Given the description of an element on the screen output the (x, y) to click on. 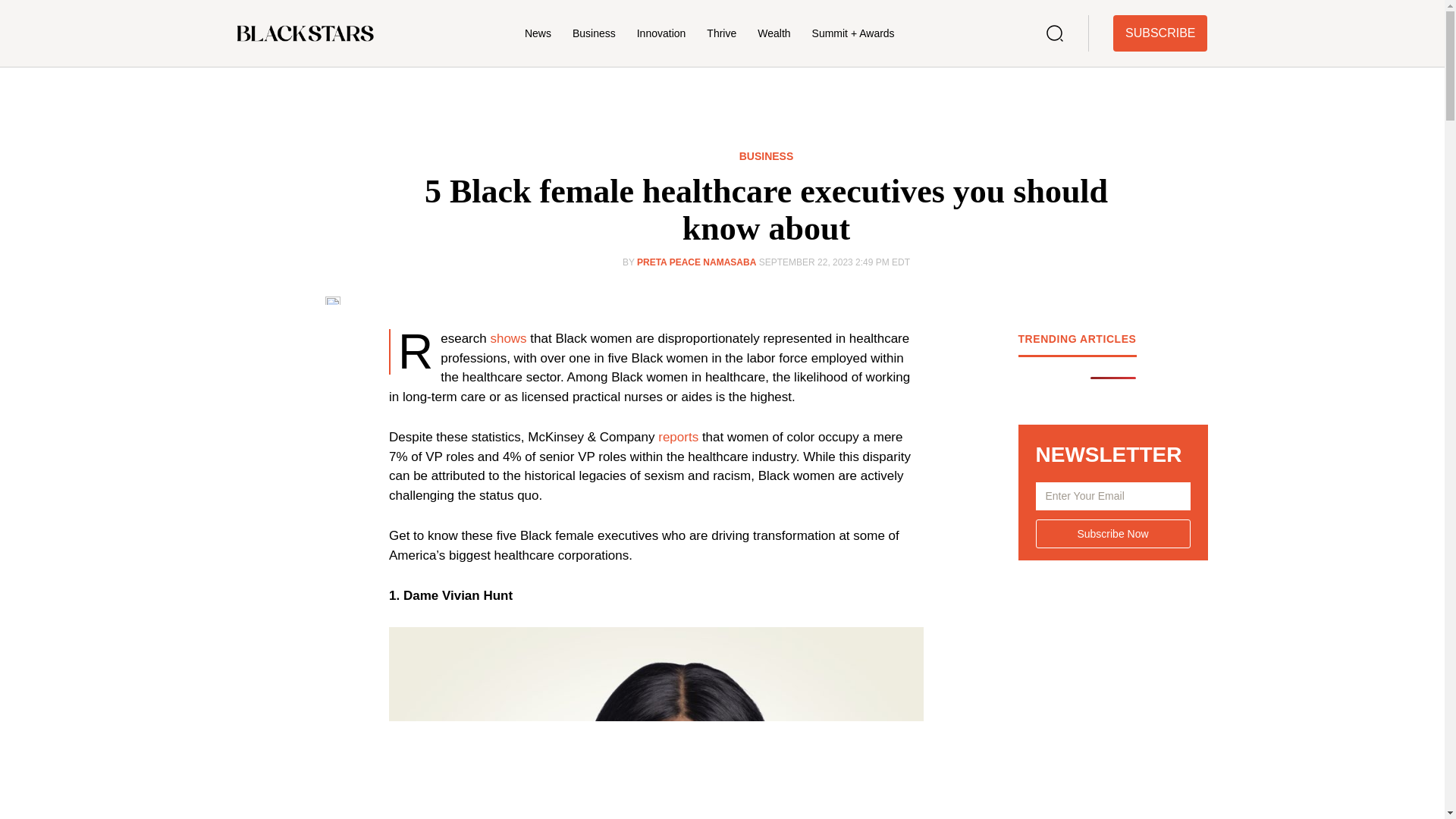
Business (593, 33)
reports (679, 436)
Subscribe Now (1113, 533)
shows (507, 338)
BlackStars (303, 32)
BUSINESS (765, 156)
SUBSCRIBE (1160, 33)
PRETA PEACE NAMASABA (696, 262)
Innovation (661, 33)
News (537, 33)
